Given the description of an element on the screen output the (x, y) to click on. 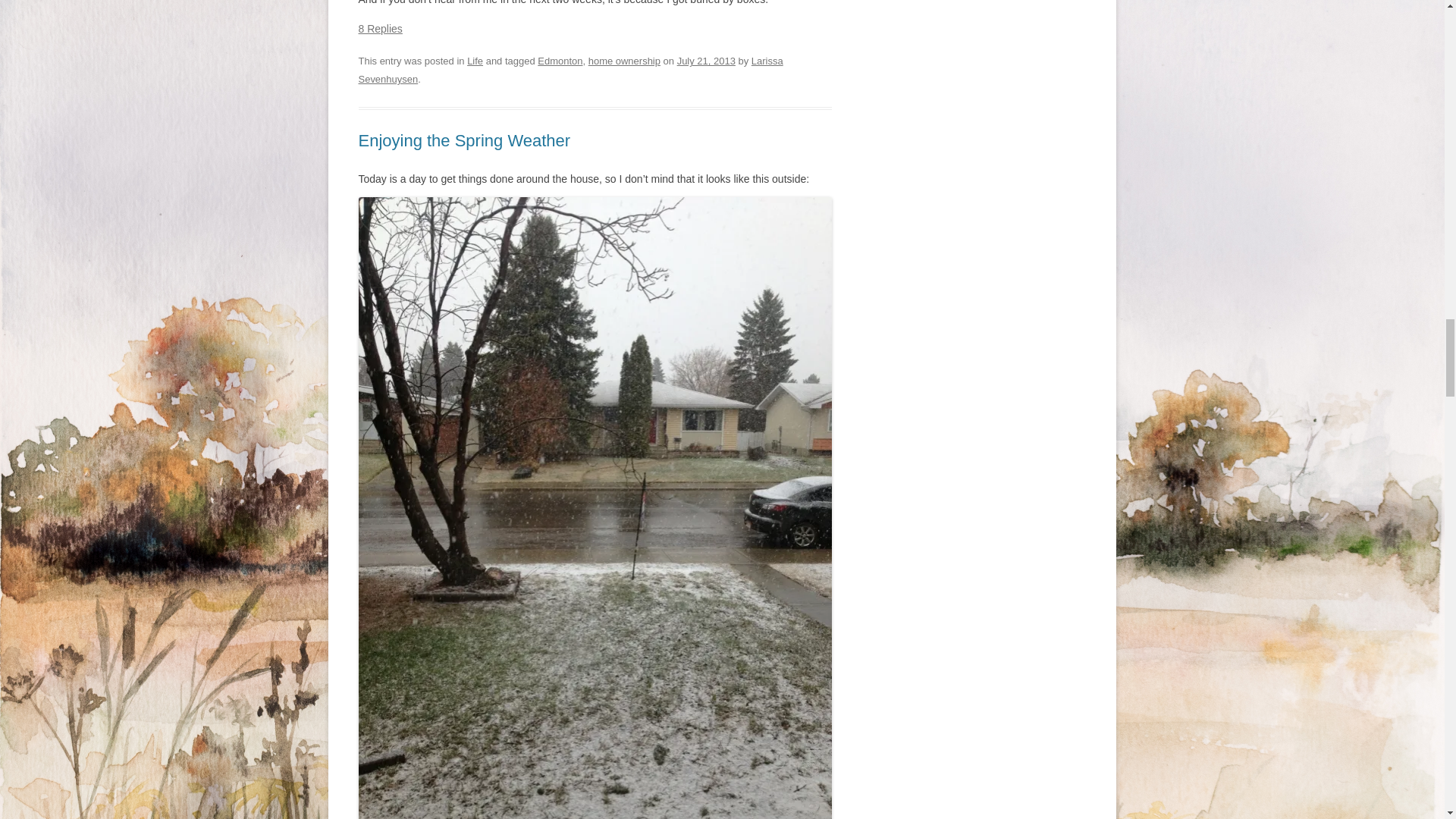
8 Replies (379, 28)
Larissa Sevenhuysen (570, 70)
Permalink to Enjoying the Spring Weather (464, 140)
8:04 pm (706, 60)
home ownership (624, 60)
Edmonton (559, 60)
Life (475, 60)
View all posts by Larissa Sevenhuysen (570, 70)
Enjoying the Spring Weather (464, 140)
July 21, 2013 (706, 60)
